Given the description of an element on the screen output the (x, y) to click on. 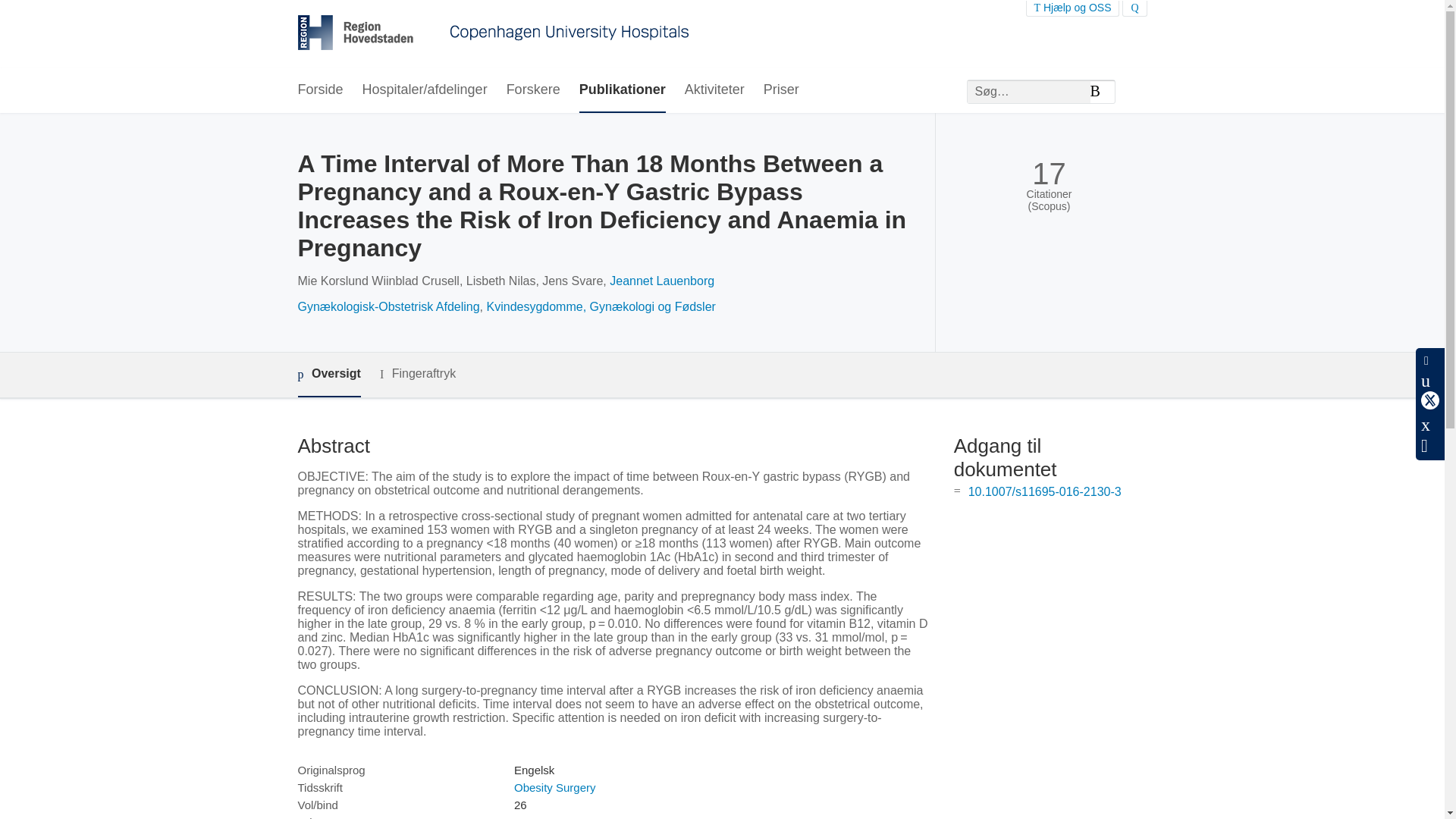
Aktiviteter (714, 90)
Obesity Surgery (554, 787)
Publikationer (622, 90)
Forside (319, 90)
Region Hovedstadens forskningsportal Forside (492, 34)
Forskere (533, 90)
Fingeraftryk (417, 373)
Oversigt (328, 374)
Jeannet Lauenborg (662, 280)
